Given the description of an element on the screen output the (x, y) to click on. 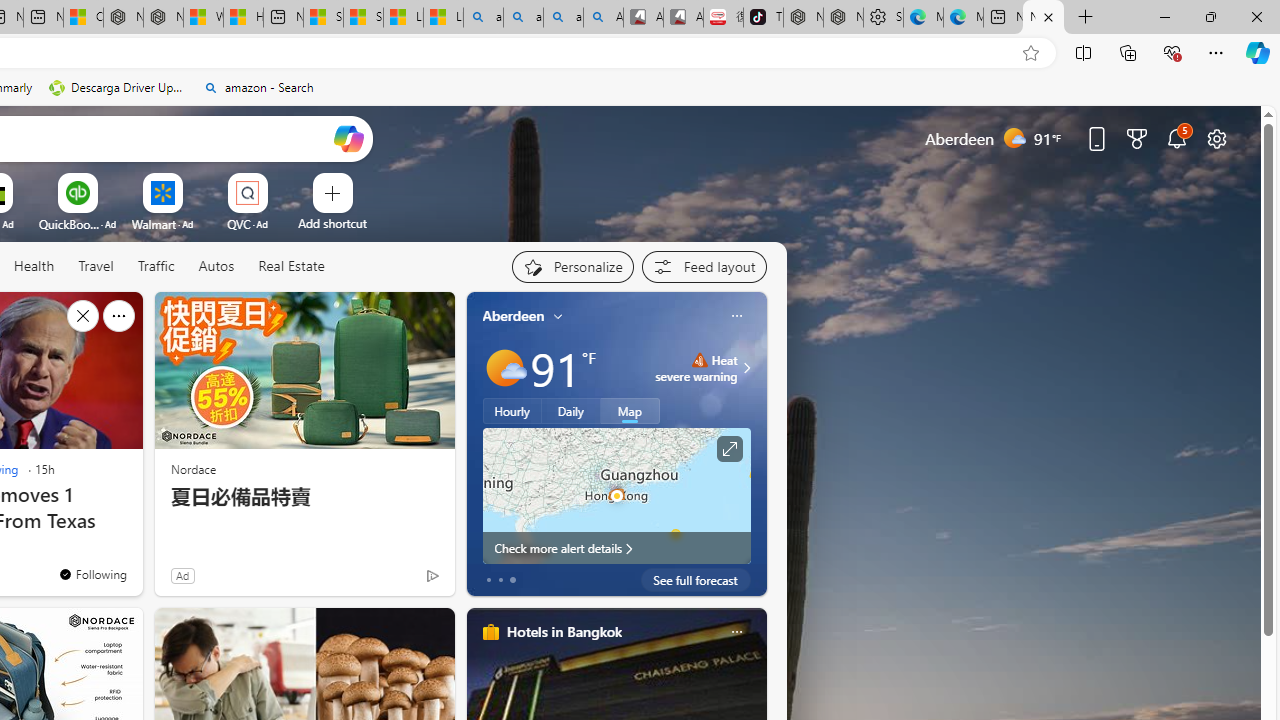
amazon - Search Images (563, 17)
Open Copilot (347, 138)
Real Estate (290, 267)
Descarga Driver Updater (118, 88)
tab-0 (488, 579)
Click to see more information (728, 449)
Daily (571, 411)
My location (558, 315)
amazon - Search (258, 88)
